Given the description of an element on the screen output the (x, y) to click on. 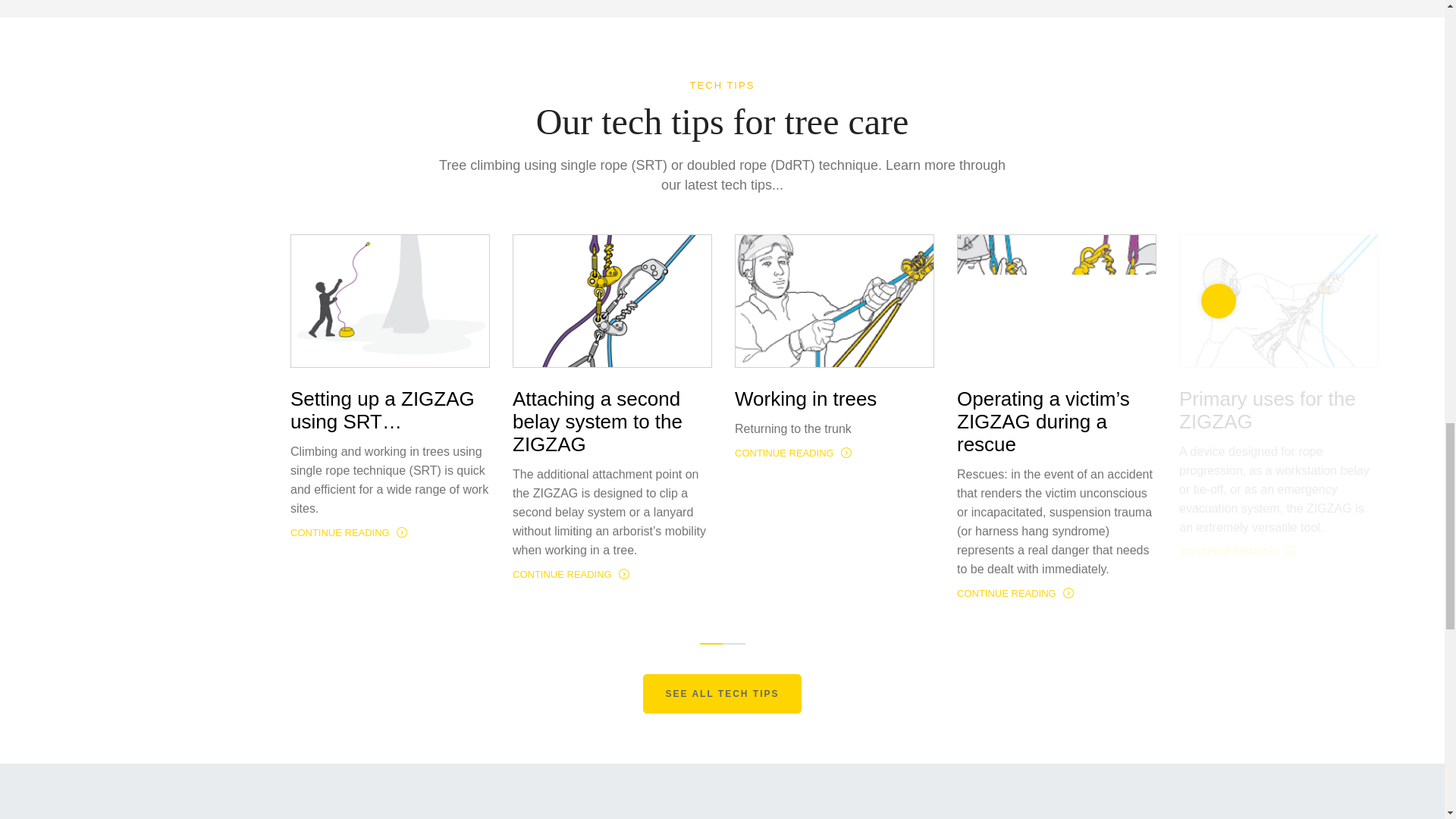
CONTINUE READING (349, 532)
CONTINUE READING (793, 452)
CONTINUE READING (1016, 593)
CONTINUE READING (1237, 551)
Next (1218, 300)
CONTINUE READING (571, 573)
